Given the description of an element on the screen output the (x, y) to click on. 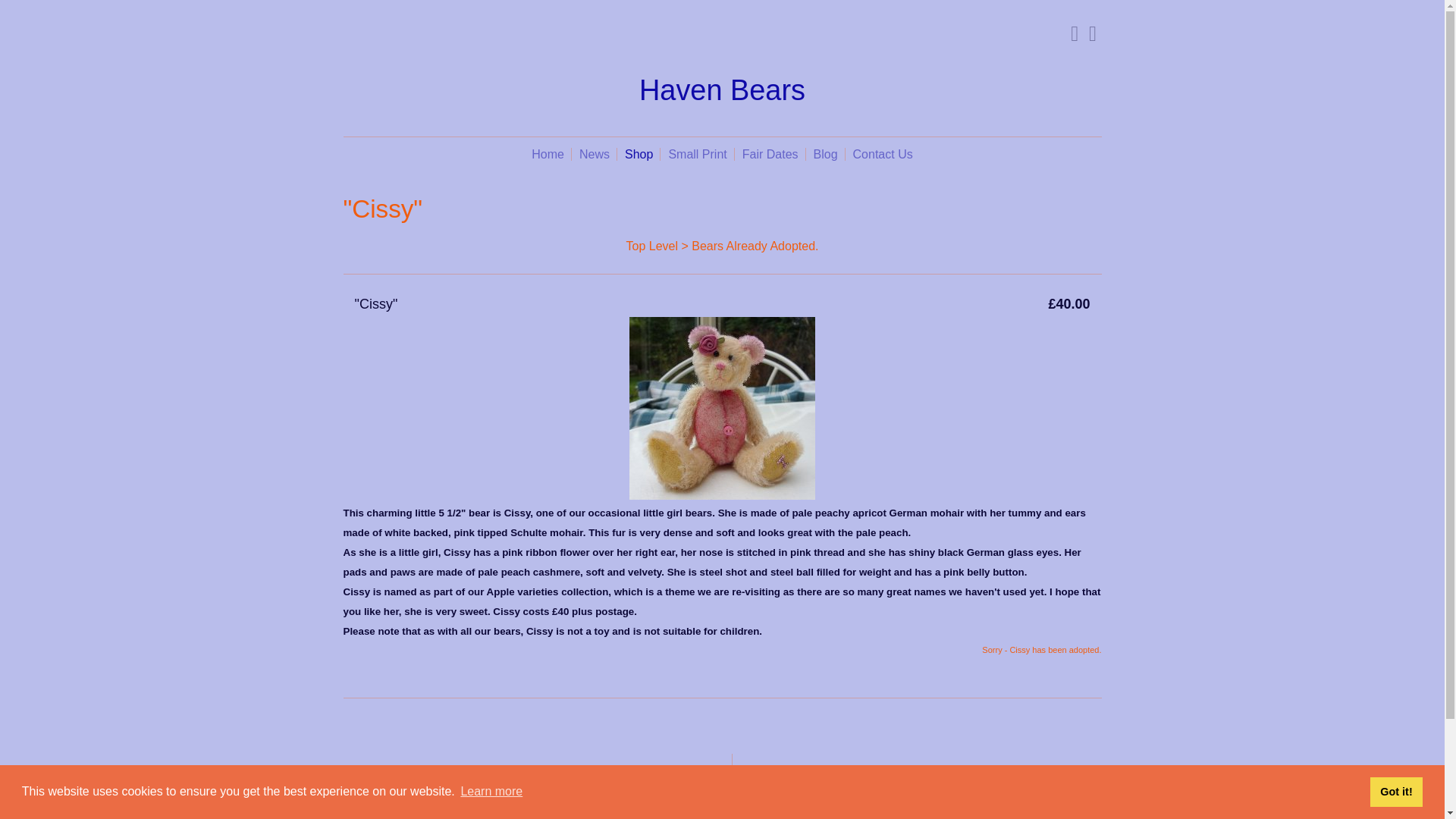
Shop (639, 154)
Bears Already Adopted. (754, 245)
Search (1067, 33)
Blog (825, 154)
Got it! (1396, 791)
Contact Us (882, 154)
Fair Dates (770, 154)
News (594, 154)
Home (548, 154)
Learn more (491, 791)
Haven Bears (722, 90)
Top Level (652, 245)
Small Print (697, 154)
